Given the description of an element on the screen output the (x, y) to click on. 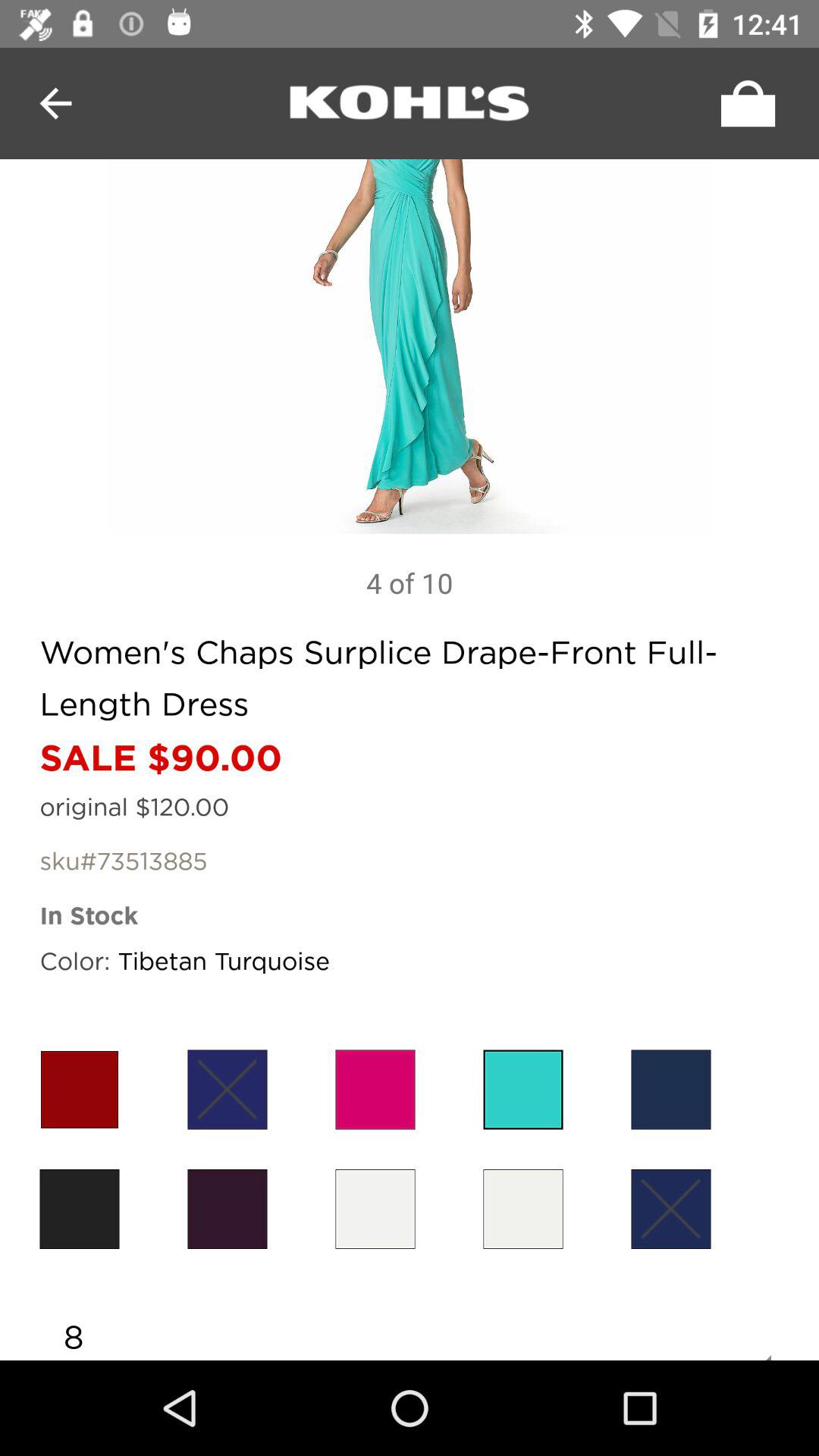
go to cart (744, 103)
